Given the description of an element on the screen output the (x, y) to click on. 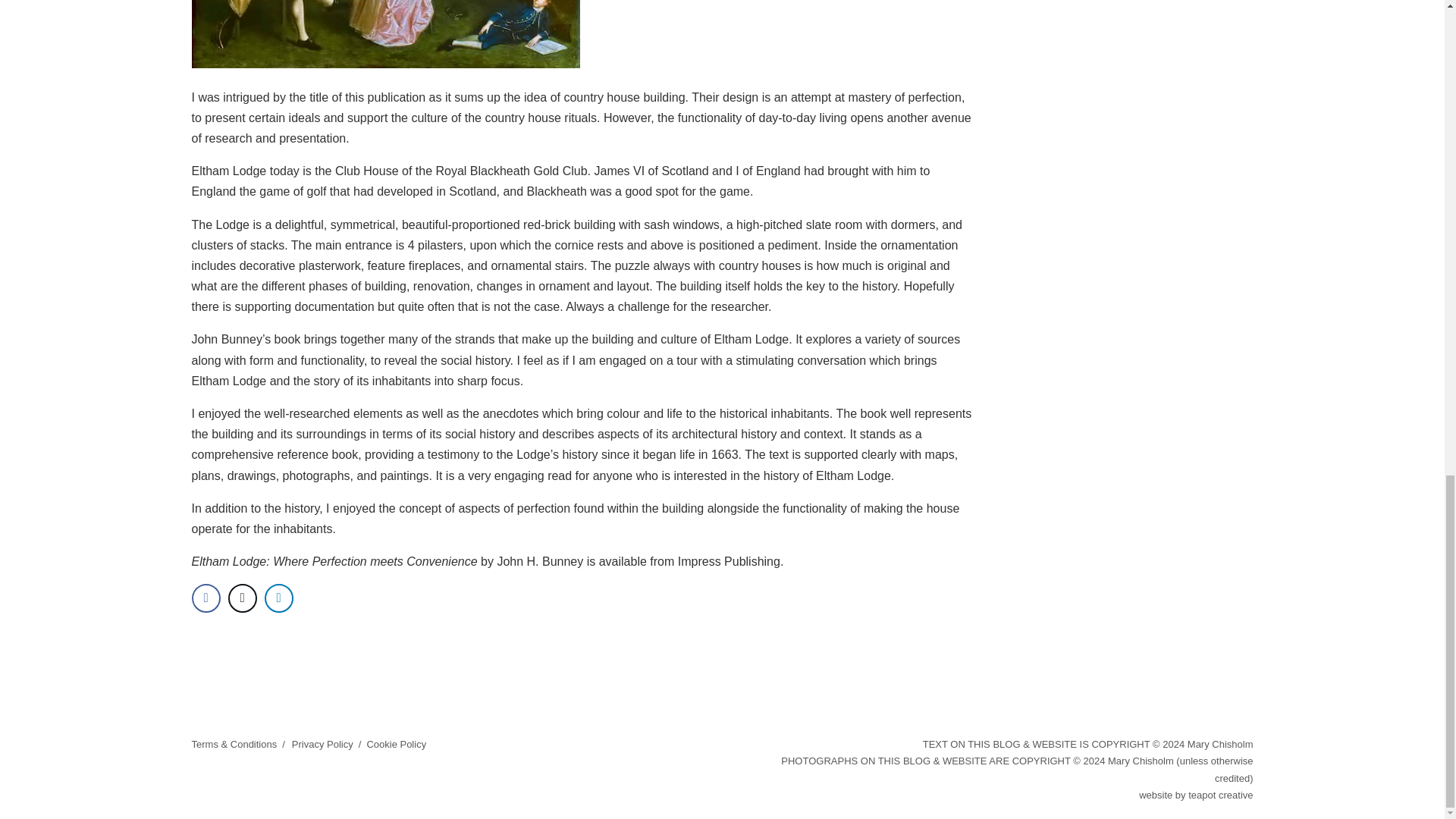
Cookie Policy (396, 744)
Privacy Policy (322, 744)
teapot creative (1220, 794)
